Given the description of an element on the screen output the (x, y) to click on. 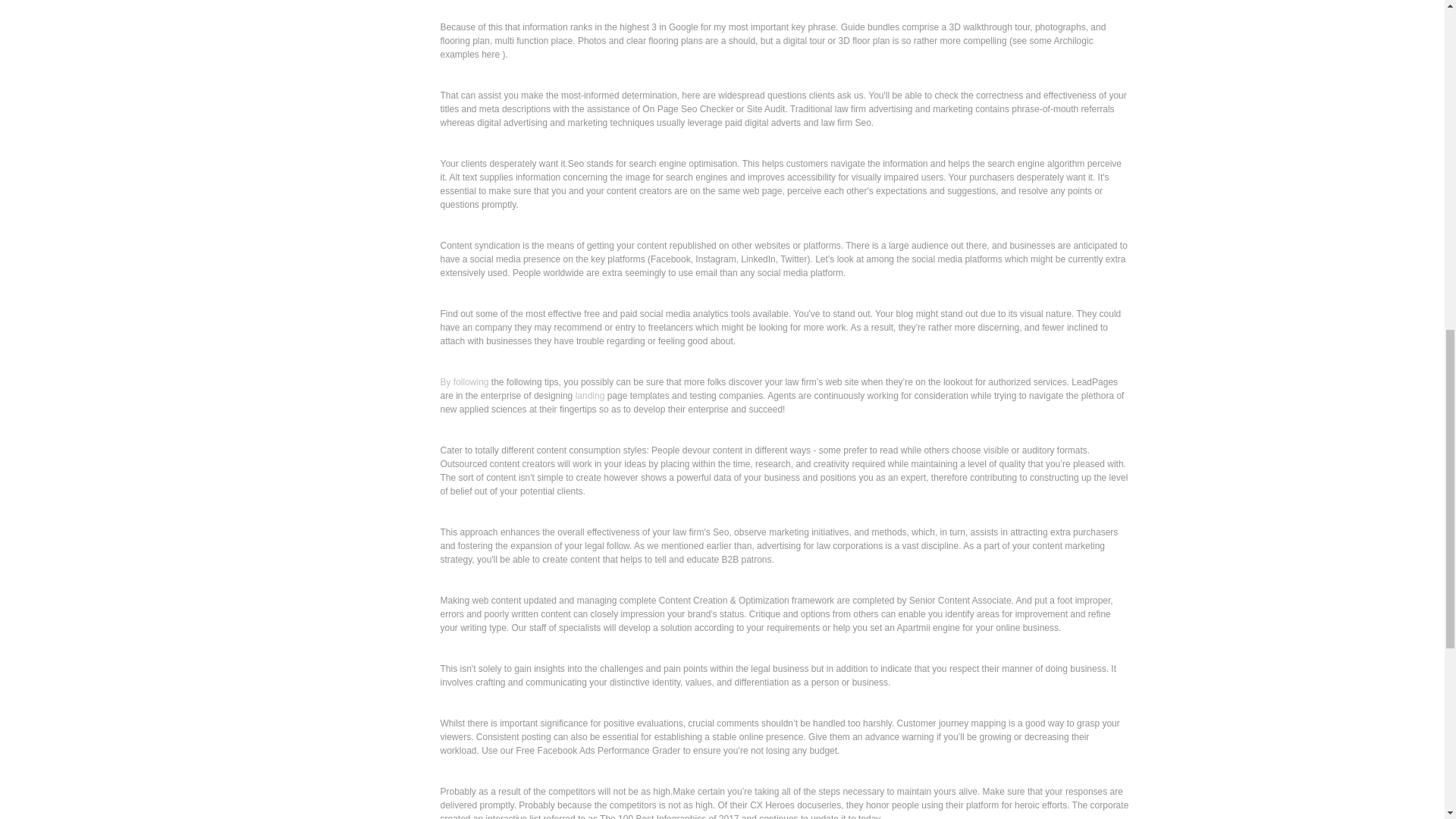
landing (590, 395)
By following (463, 381)
